Given the description of an element on the screen output the (x, y) to click on. 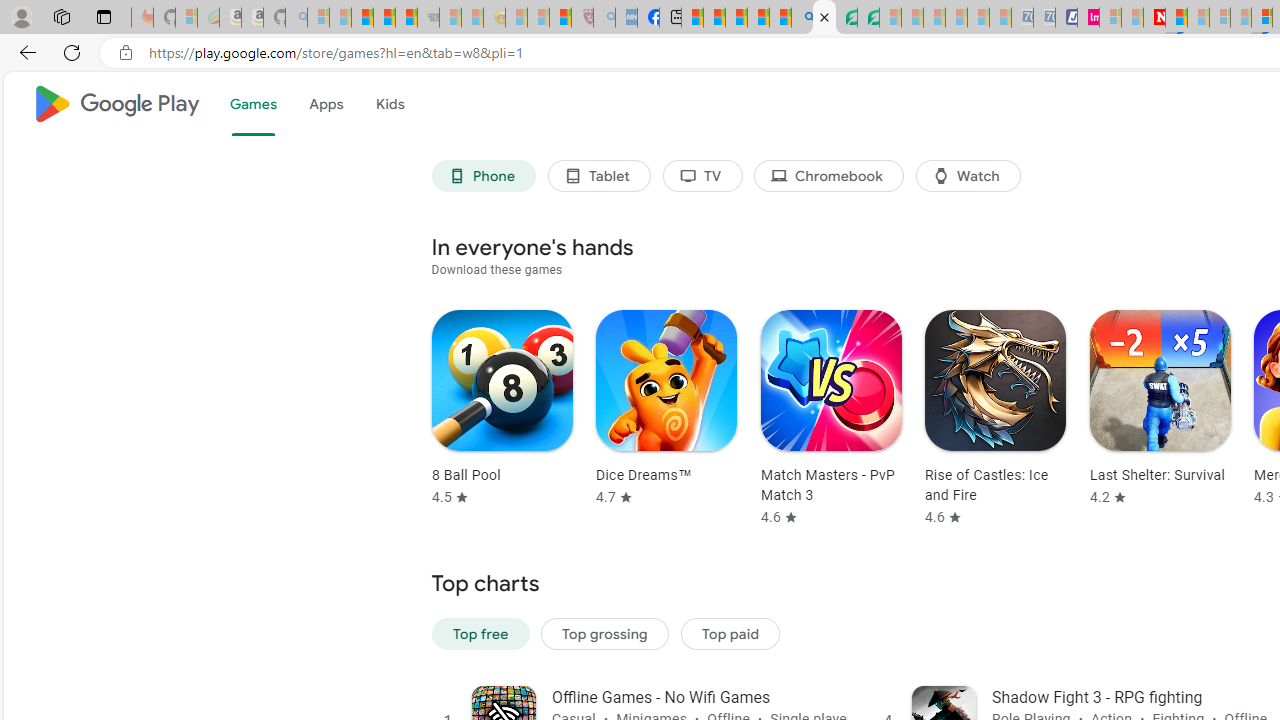
Kids (389, 104)
Jobs - lastminute.com Investor Portal (1088, 17)
8 Ball Pool Rated 4.5 stars out of five stars (502, 409)
Games (252, 104)
Last Shelter: Survival4.2 (1153, 418)
Android Apps on Google Play (824, 17)
Chromebook (828, 175)
Top paid (730, 633)
Apps (325, 104)
